Given the description of an element on the screen output the (x, y) to click on. 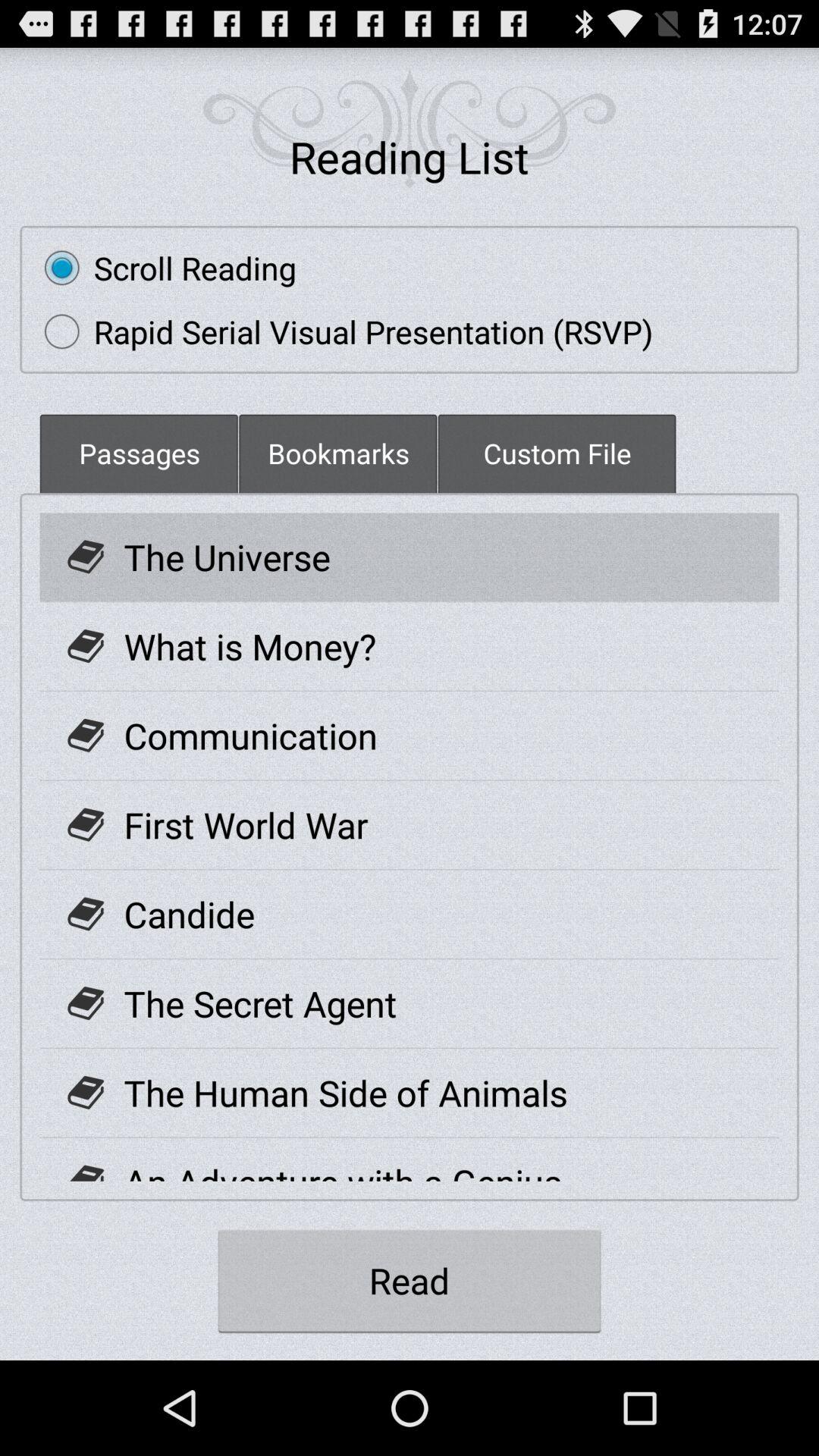
launch the scroll reading icon (163, 267)
